Given the description of an element on the screen output the (x, y) to click on. 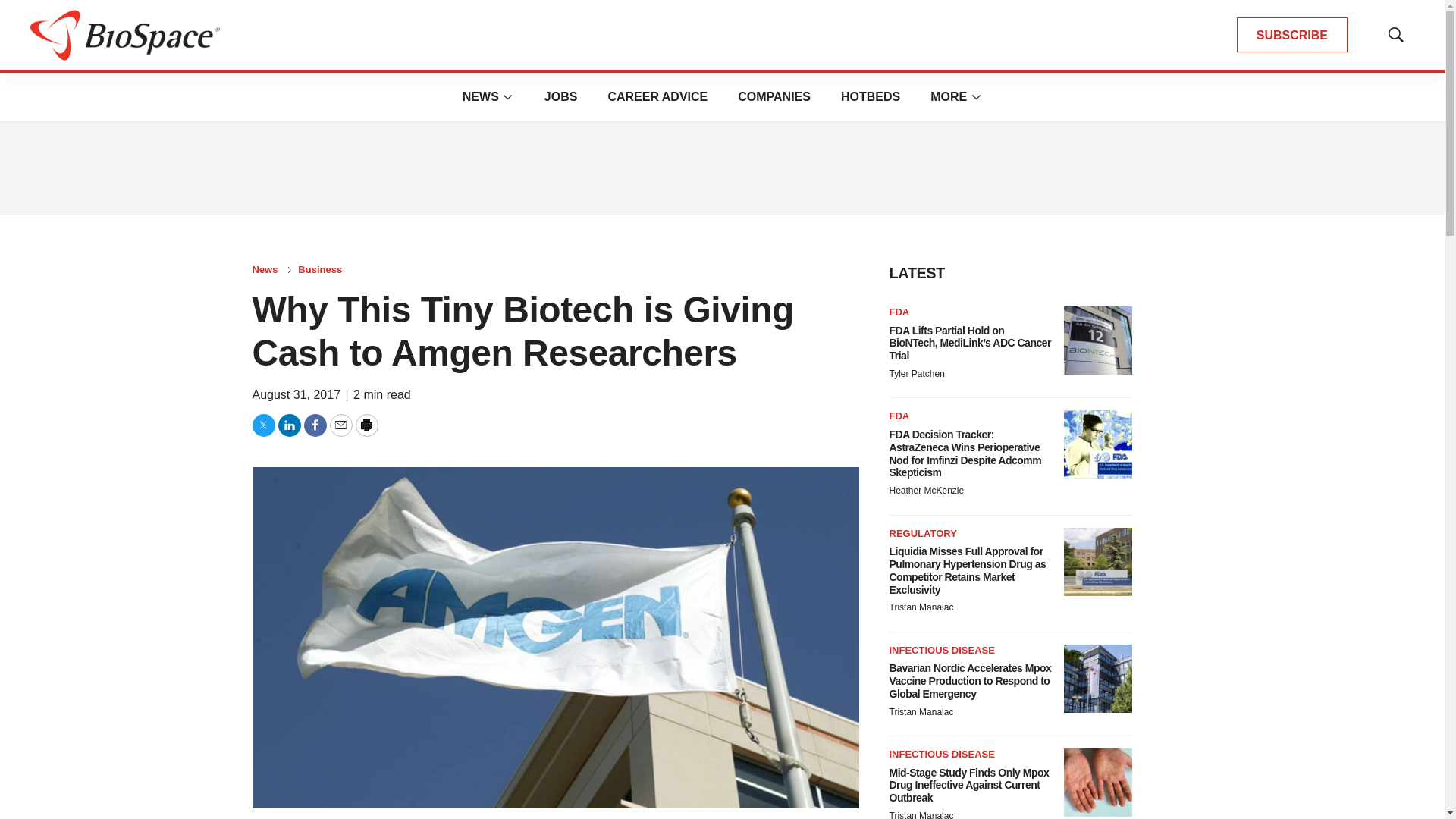
Show Search (1395, 34)
SUBSCRIBE (1292, 34)
3rd party ad content (721, 168)
NEWS (481, 96)
